Given the description of an element on the screen output the (x, y) to click on. 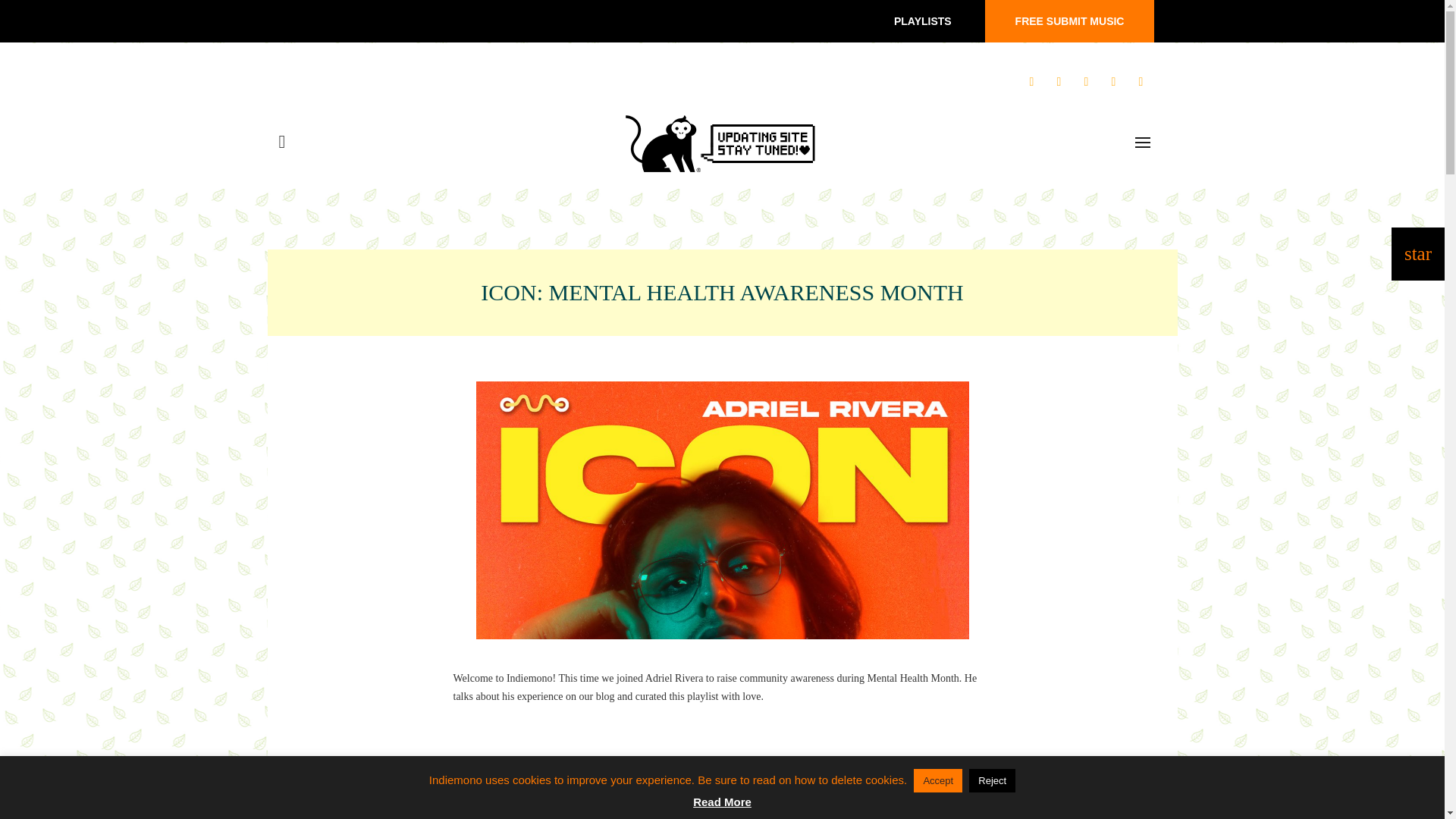
FREE SUBMIT MUSIC (1069, 21)
PLAYLISTS (922, 21)
Menu (1142, 143)
